Given the description of an element on the screen output the (x, y) to click on. 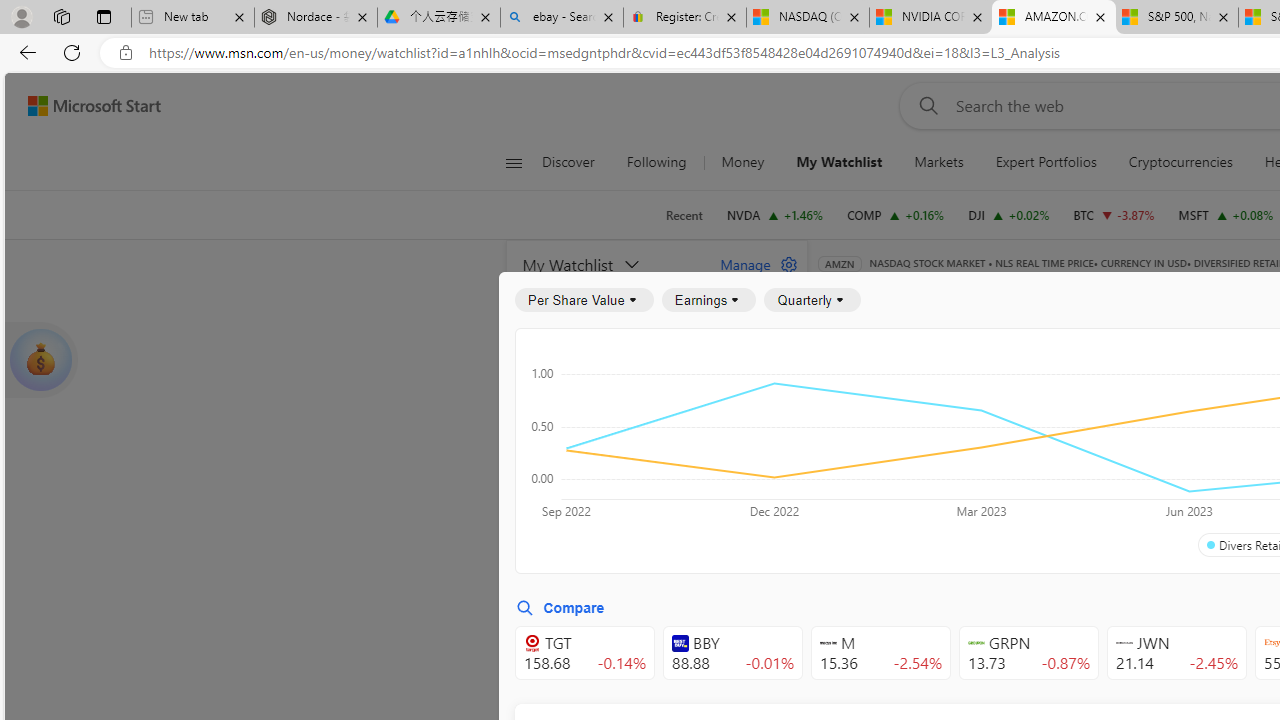
Expert Portfolios (1045, 162)
Web search (924, 105)
All (842, 445)
Earnings (708, 300)
Watchlist (1152, 291)
Markets (939, 162)
Per Share Value (584, 300)
Money (742, 162)
